Given the description of an element on the screen output the (x, y) to click on. 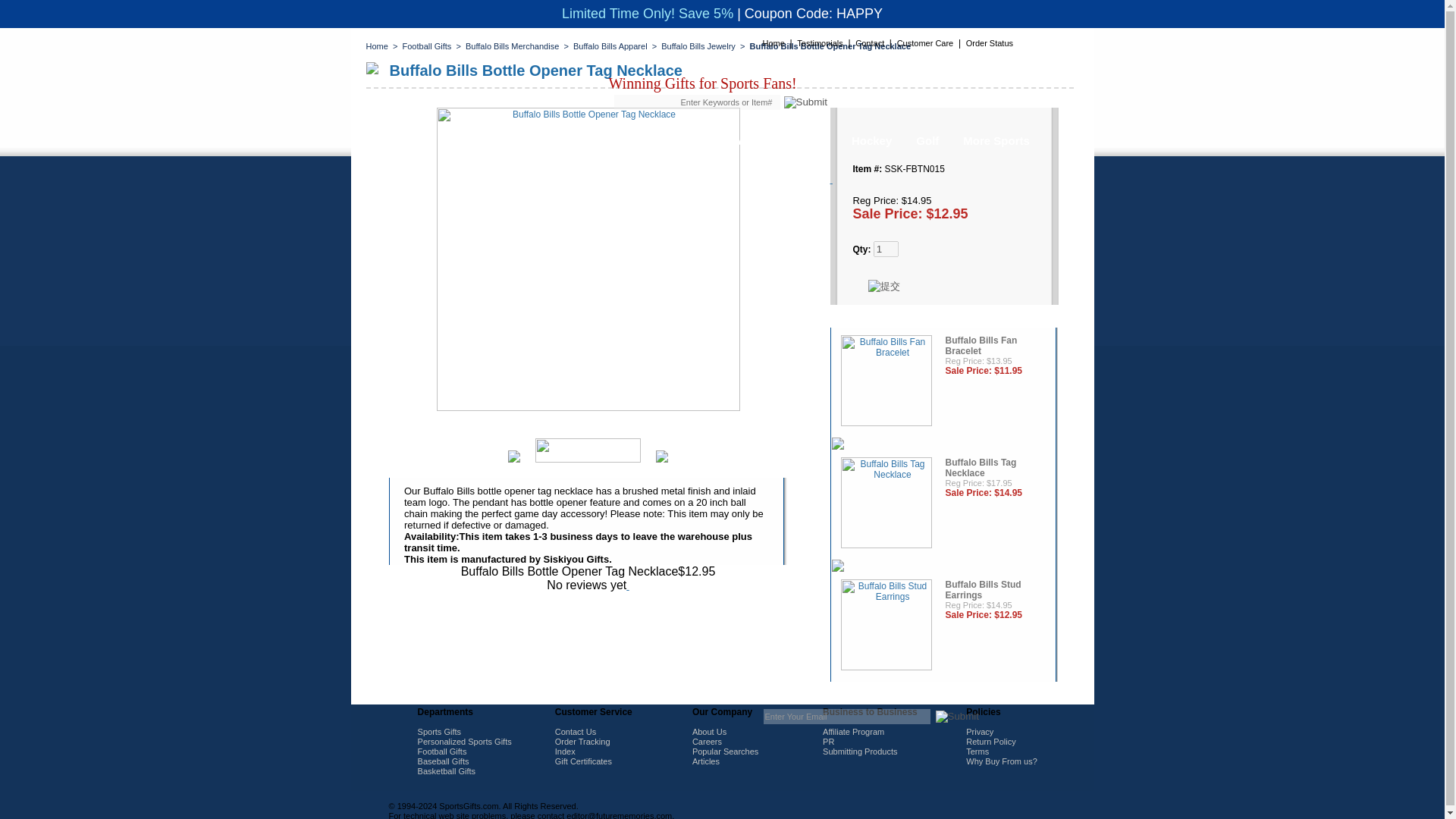
Testimonials (819, 42)
Contact (869, 42)
Basketball (799, 140)
Submit (957, 716)
Home (773, 42)
Baseball (665, 140)
Football (594, 140)
Buffalo Bills Tag Necklace (886, 504)
Customer Care (924, 42)
Order Status (989, 42)
Golf (927, 140)
More Sports (996, 140)
NCAA (729, 140)
Enter Your Email (846, 716)
Hockey (872, 140)
